Given the description of an element on the screen output the (x, y) to click on. 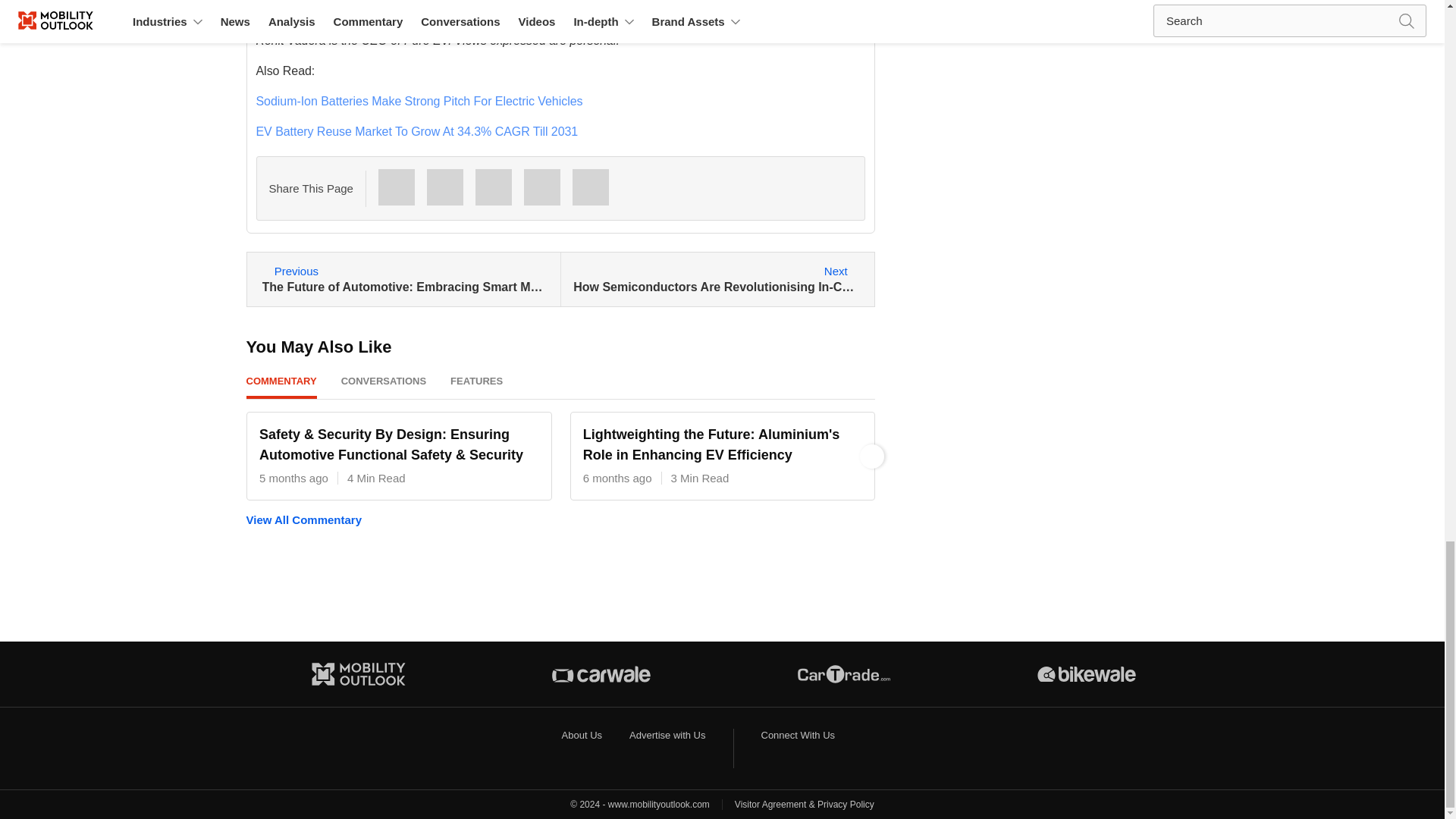
linkedin Share Link (590, 186)
Sodium-Ion Batteries Make Strong Pitch For Electric Vehicles (419, 101)
gmail Share Link (494, 186)
View All Commentary (560, 519)
facebook Share Link (444, 186)
twitter Share Link (542, 186)
Sodium-Ion Batteries Make Strong Pitch For Electric Vehicles (419, 101)
About Us (582, 735)
whatsapp Share Link (396, 186)
Advertise with Us (666, 735)
